Given the description of an element on the screen output the (x, y) to click on. 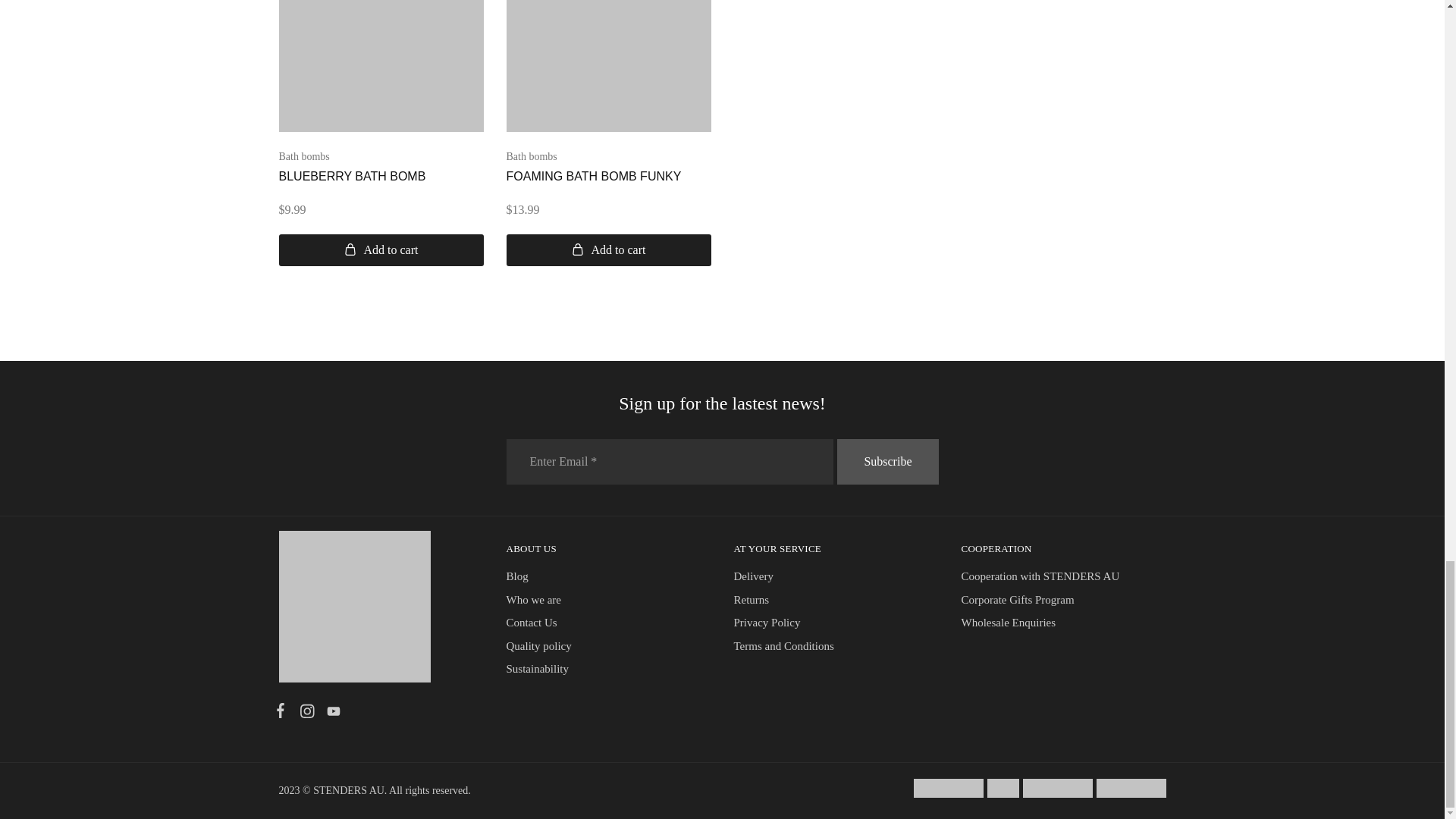
Subscribe (887, 461)
Youtube (330, 712)
Facebook (283, 712)
Instagram (307, 712)
